Given the description of an element on the screen output the (x, y) to click on. 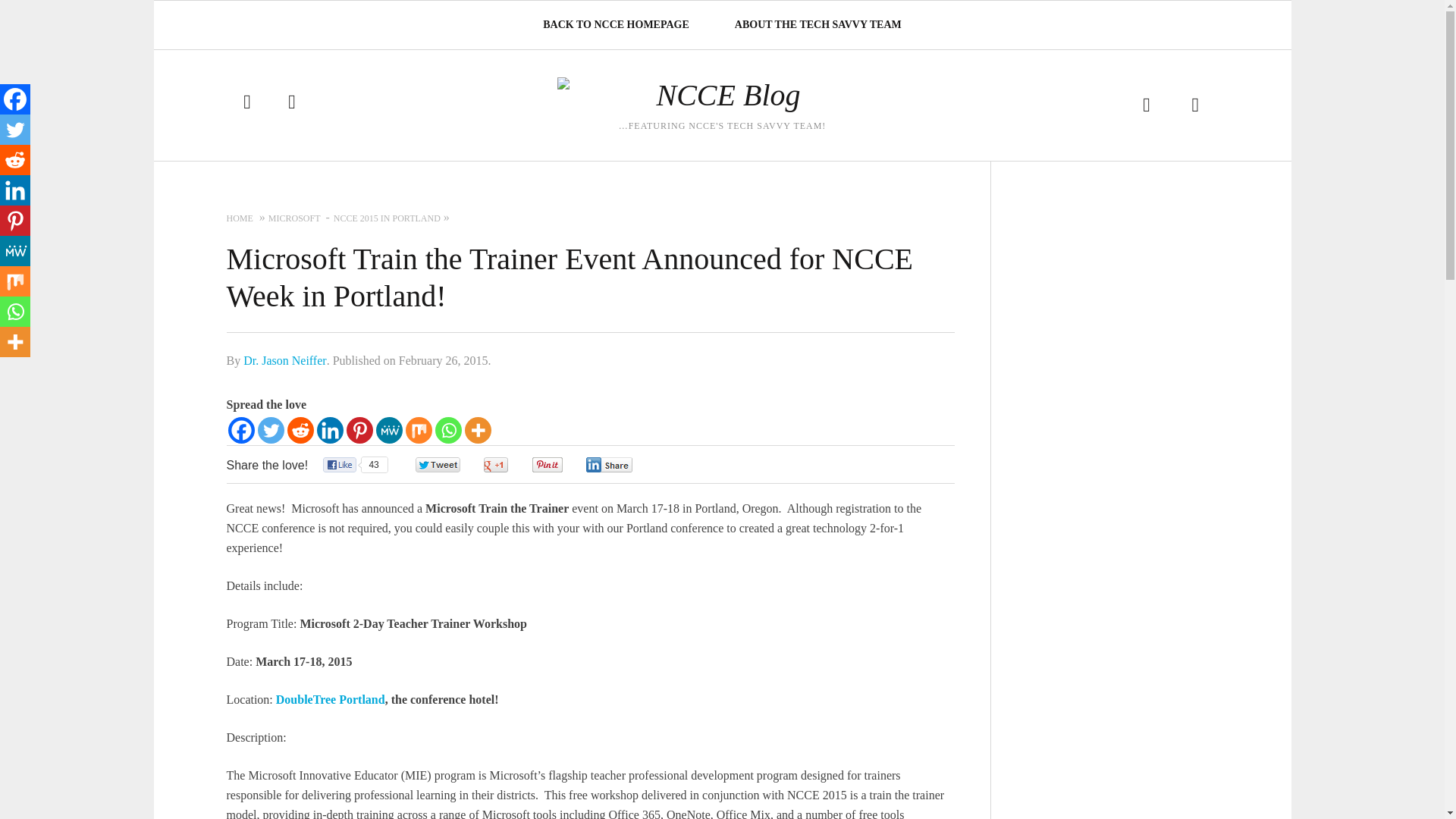
Reddit (299, 429)
Twitter (270, 429)
Whatsapp (448, 429)
2015-02-26T09:29:09-07:00 (442, 359)
DoubleTree Portland (330, 698)
MICROSOFT (293, 218)
Dr. Jason Neiffer (284, 359)
Linkedin (330, 429)
Facebook (240, 429)
HOME (238, 218)
